Given the description of an element on the screen output the (x, y) to click on. 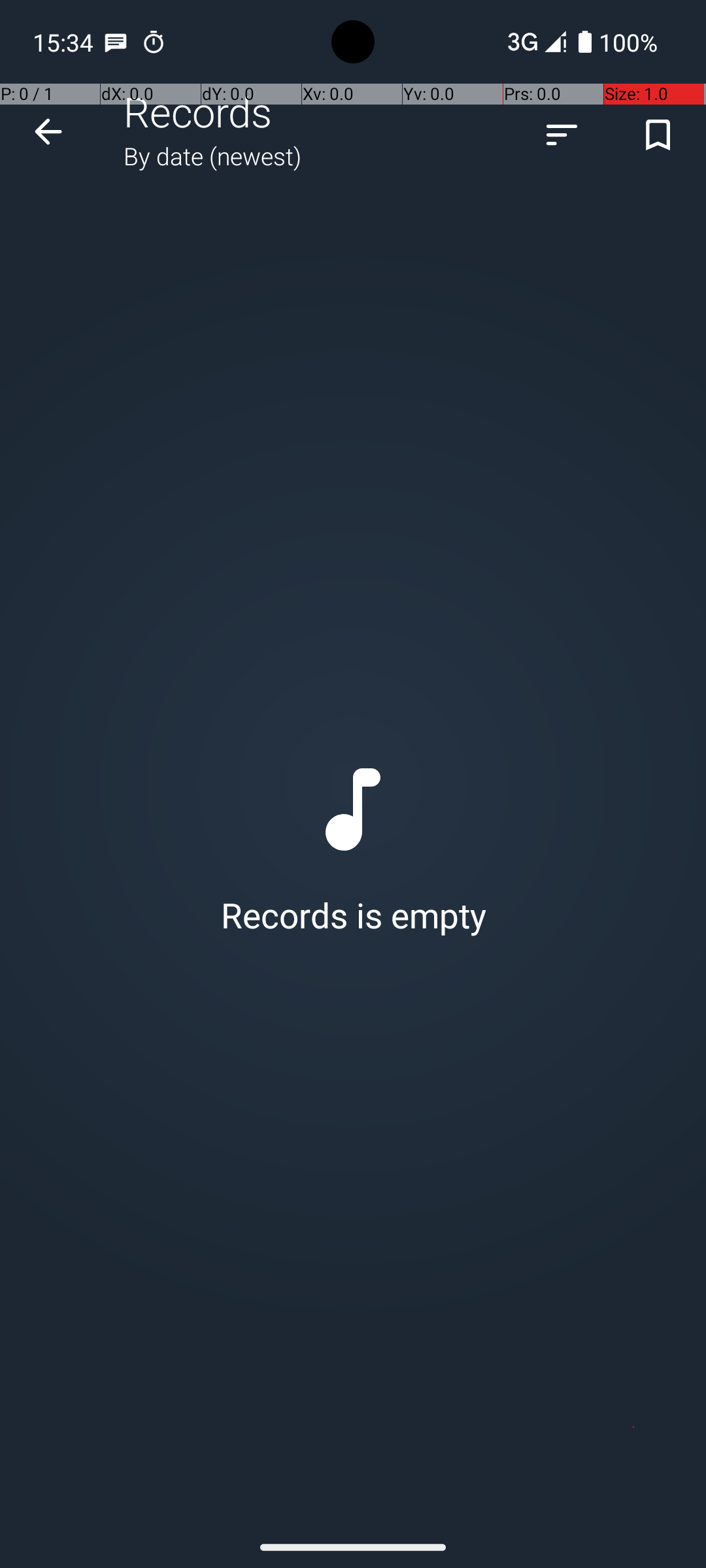
Records Element type: android.widget.TextView (198, 111)
By date (newest) Element type: android.widget.TextView (212, 155)
Records is empty Element type: android.widget.TextView (352, 846)
15:34 Element type: android.widget.TextView (64, 41)
SMS Messenger notification: Matteo Ibrahim Element type: android.widget.ImageView (115, 41)
Clock notification:  Element type: android.widget.ImageView (153, 41)
Phone signal full. Element type: android.widget.FrameLayout (534, 41)
Battery 100 percent. Element type: android.widget.LinearLayout (617, 41)
No internet Element type: android.widget.ImageView (521, 41)
